Given the description of an element on the screen output the (x, y) to click on. 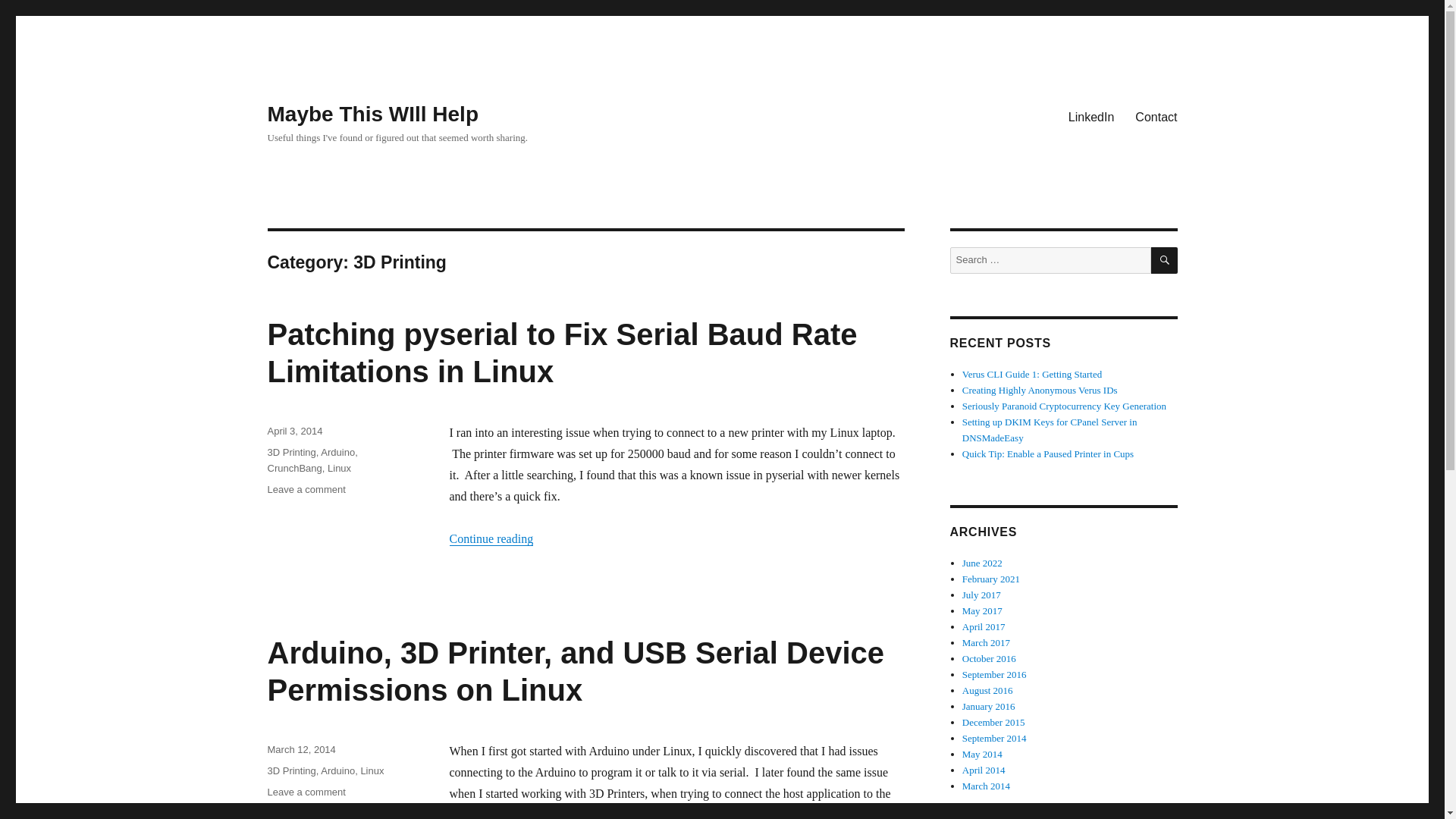
Arduino (337, 451)
Creating Highly Anonymous Verus IDs (1040, 389)
December 2015 (993, 722)
Arduino (337, 770)
March 2017 (986, 642)
October 2016 (989, 658)
May 2017 (982, 610)
Quick Tip: Enable a Paused Printer in Cups (1048, 453)
